Given the description of an element on the screen output the (x, y) to click on. 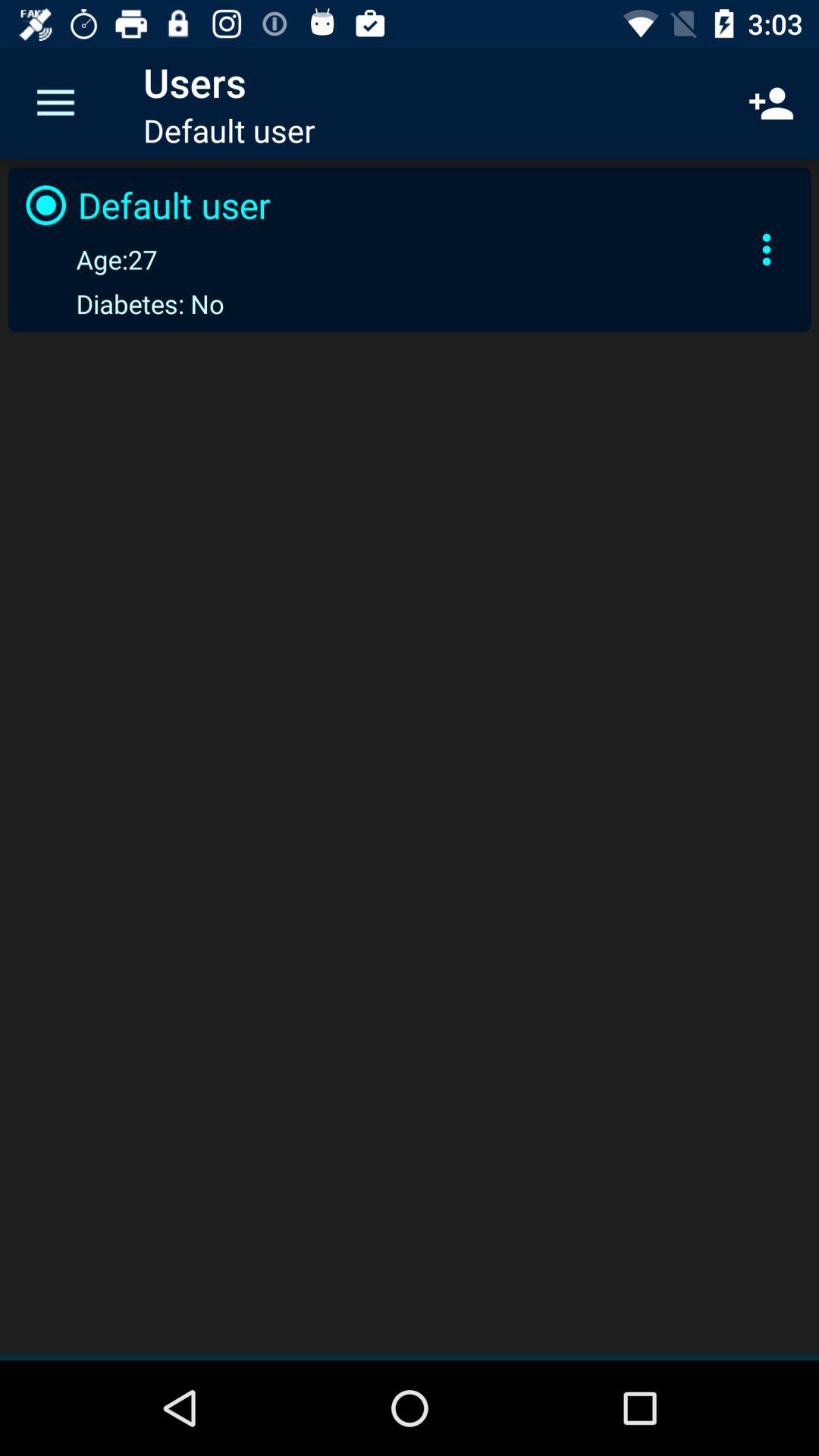
open the icon next to default user item (766, 249)
